Given the description of an element on the screen output the (x, y) to click on. 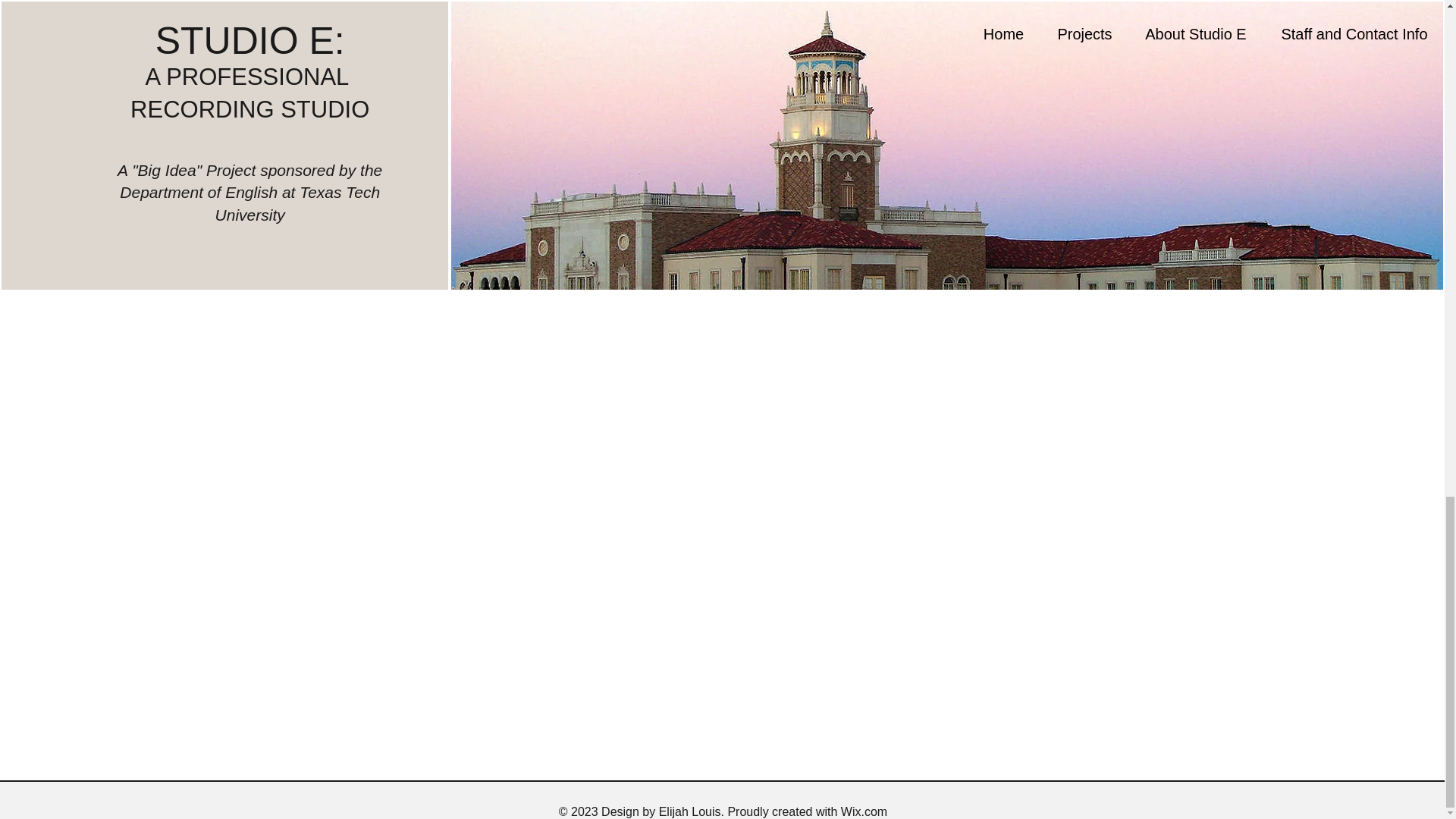
Wix.com (863, 811)
